Given the description of an element on the screen output the (x, y) to click on. 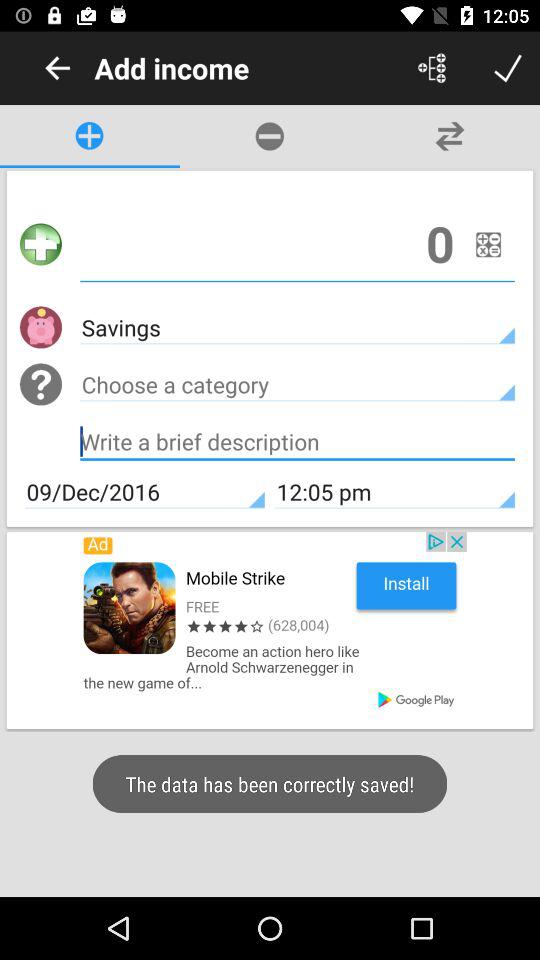
open menu (431, 67)
